Given the description of an element on the screen output the (x, y) to click on. 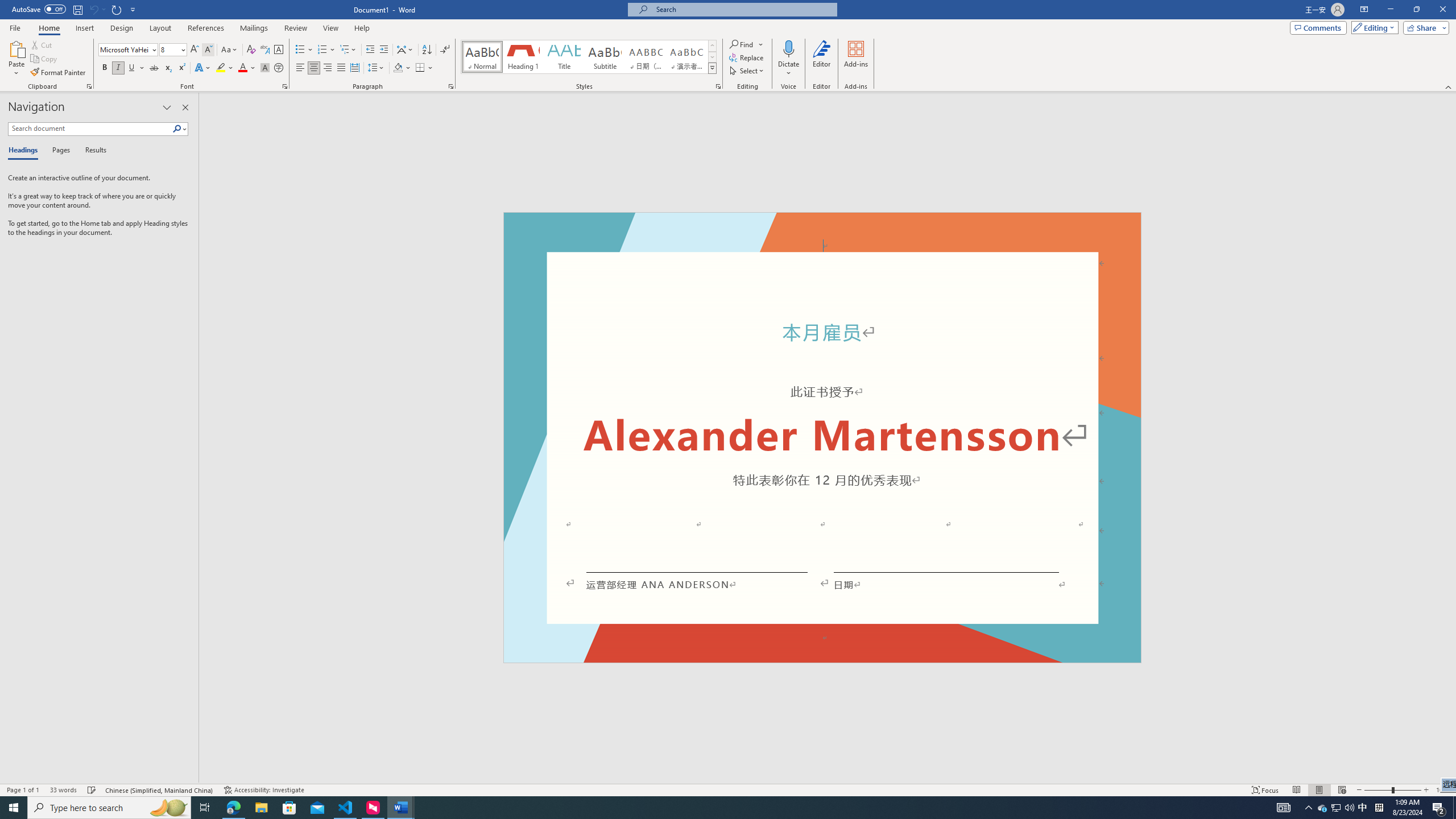
Underline (131, 67)
Shrink Font (208, 49)
Language Chinese (Simplified, Mainland China) (159, 790)
Page 1 content (822, 445)
Decorative (822, 437)
Search document (89, 128)
Bullets (300, 49)
Center (313, 67)
Focus  (1265, 790)
Home (48, 28)
AutomationID: QuickStylesGallery (588, 56)
Paste (16, 58)
Customize Quick Access Toolbar (133, 9)
Headings (25, 150)
Format Painter (58, 72)
